Given the description of an element on the screen output the (x, y) to click on. 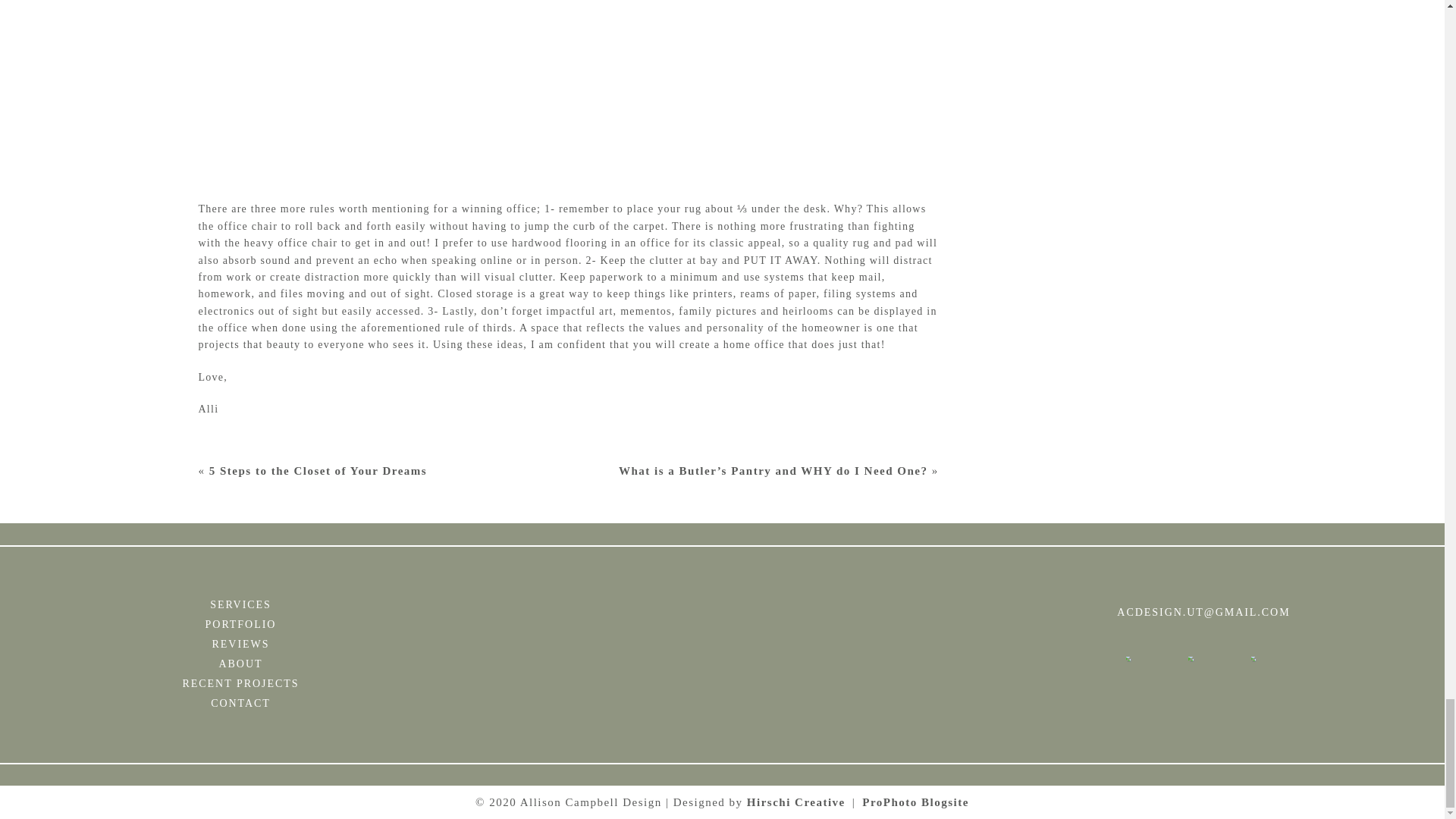
5 Steps to the Closet of Your Dreams (317, 470)
PORTFOLIO (240, 624)
SERVICES (240, 605)
ABOUT (240, 664)
CONTACT (240, 703)
ProPhoto Photographer Site (915, 802)
RECENT PROJECTS (240, 683)
REVIEWS (240, 644)
